Given the description of an element on the screen output the (x, y) to click on. 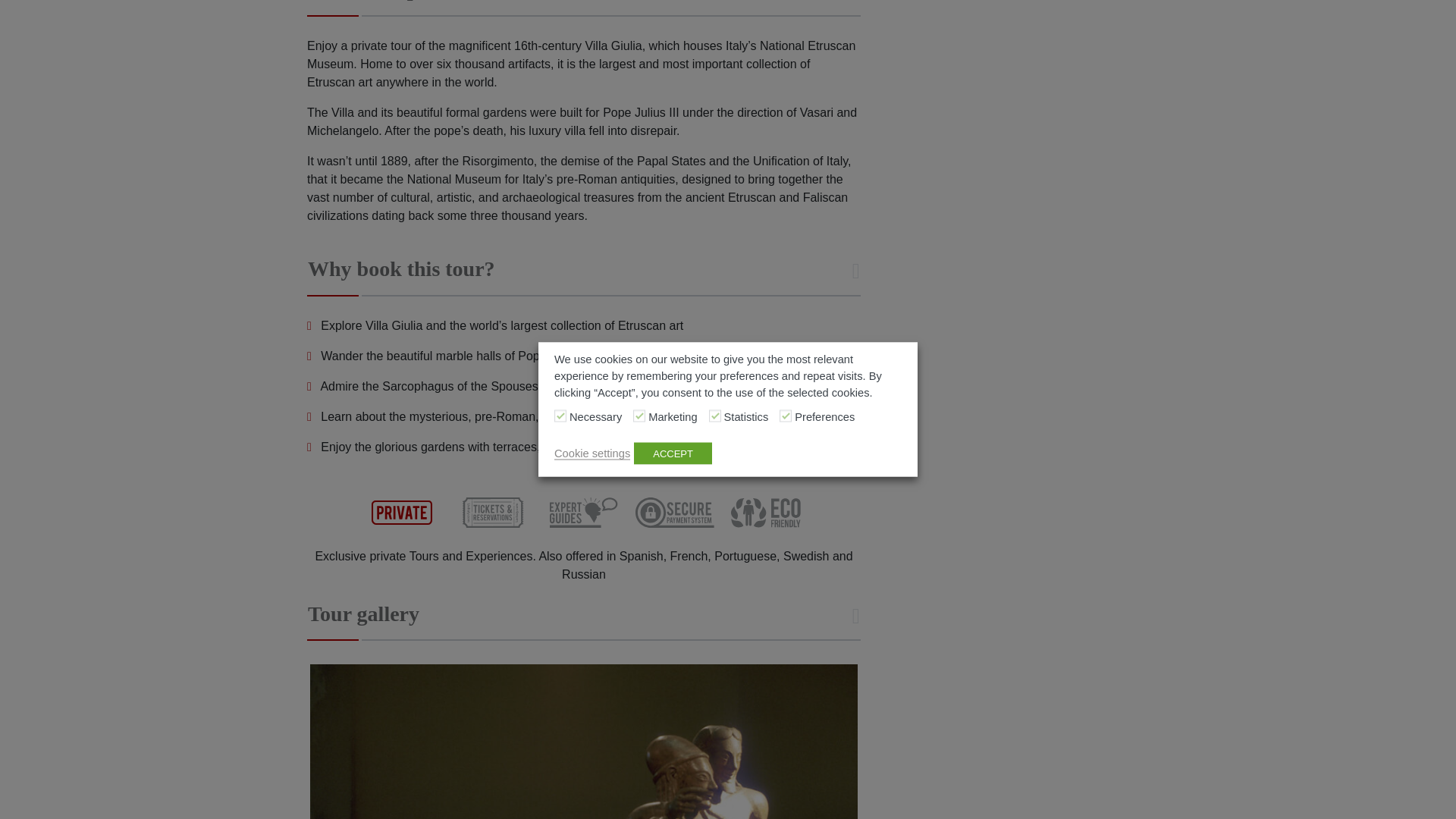
eco-friendly (765, 512)
tickets (492, 512)
private (401, 512)
guides (583, 512)
secure-payment (674, 512)
